Given the description of an element on the screen output the (x, y) to click on. 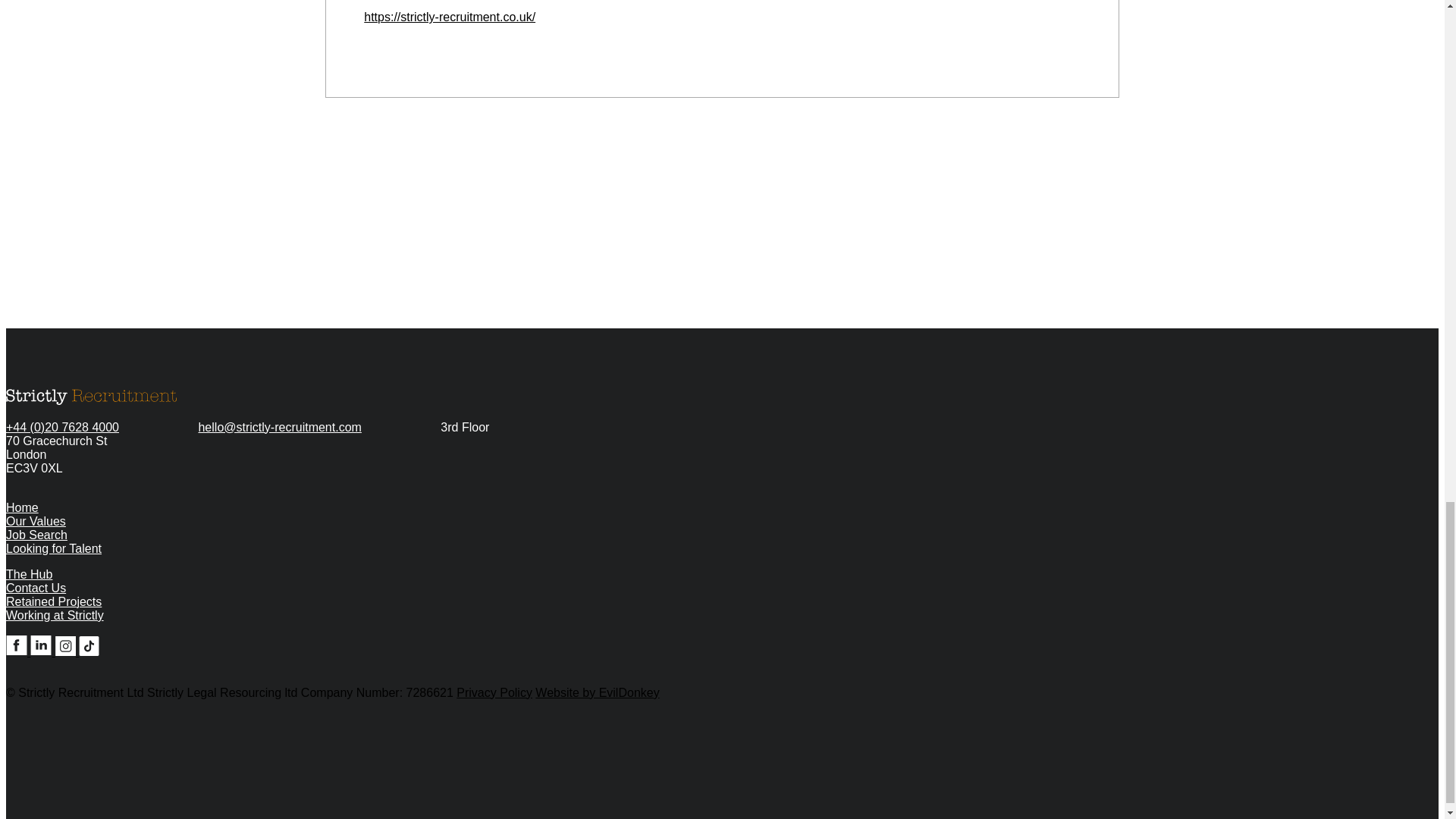
Retained Projects (53, 601)
Privacy Policy (494, 692)
Job Search (35, 534)
Home (22, 507)
Our Values (35, 521)
Looking for Talent (53, 548)
Contact Us (247, 447)
The Hub (35, 587)
Working at Strictly (28, 574)
Website by EvilDonkey (54, 615)
